Given the description of an element on the screen output the (x, y) to click on. 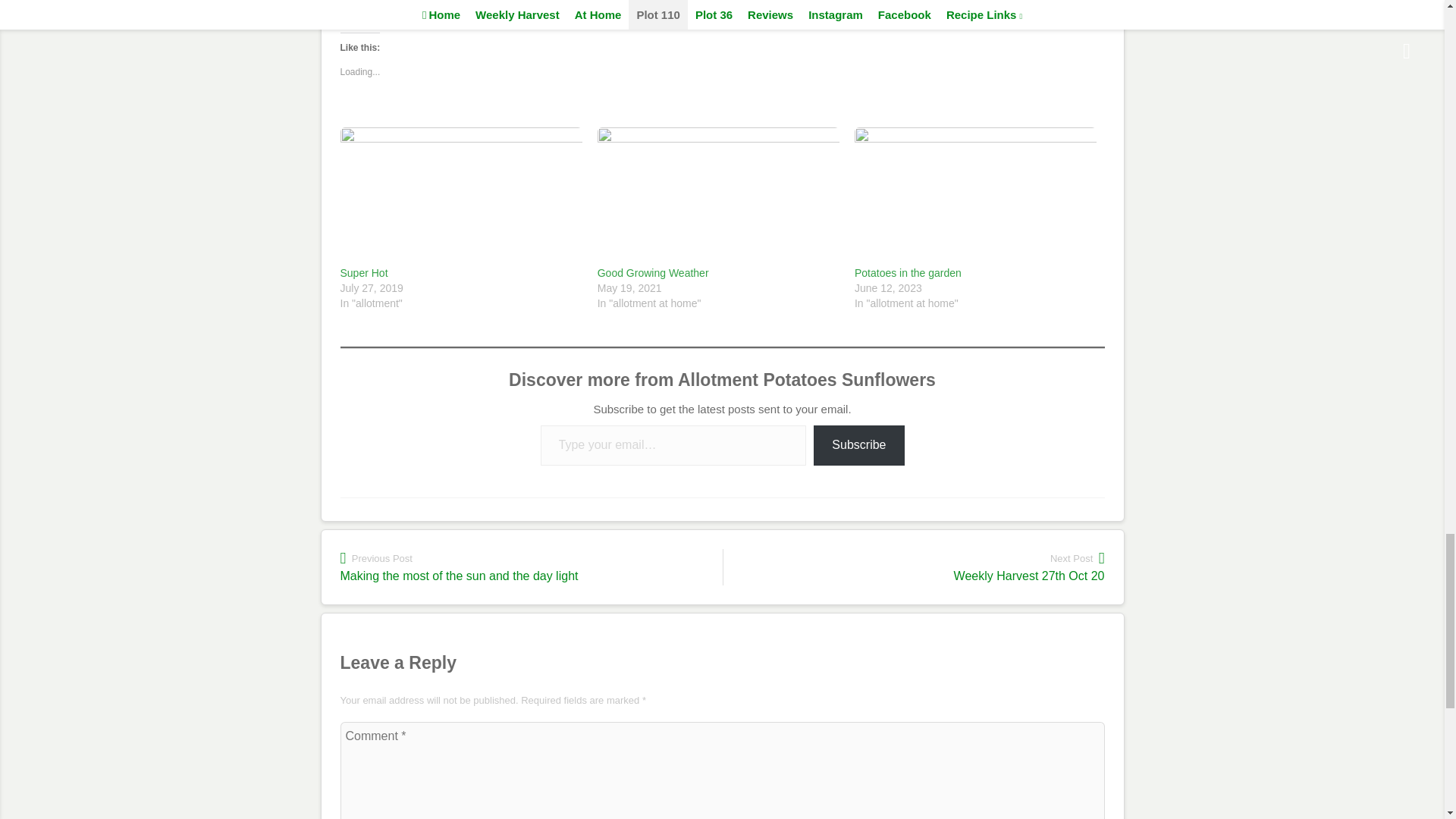
Click to share on Twitter (351, 5)
Click to share on Pocket (412, 5)
Potatoes in the garden (907, 272)
Good Growing Weather (652, 272)
Super Hot (459, 196)
Super Hot (363, 272)
Potatoes in the garden (975, 196)
Good Growing Weather (718, 196)
Click to email a link to a friend (442, 5)
Click to share on Facebook (381, 5)
